Given the description of an element on the screen output the (x, y) to click on. 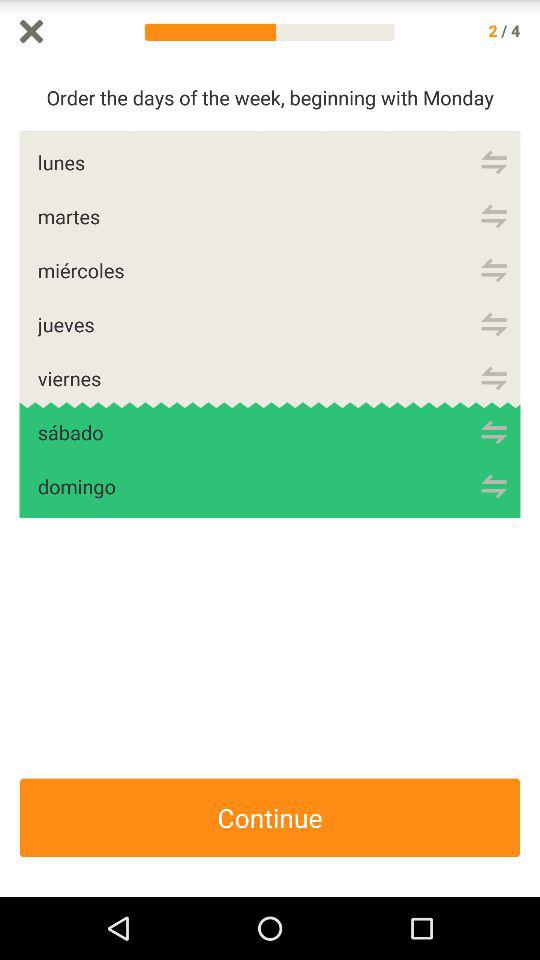
click icon at the top left corner (31, 31)
